Given the description of an element on the screen output the (x, y) to click on. 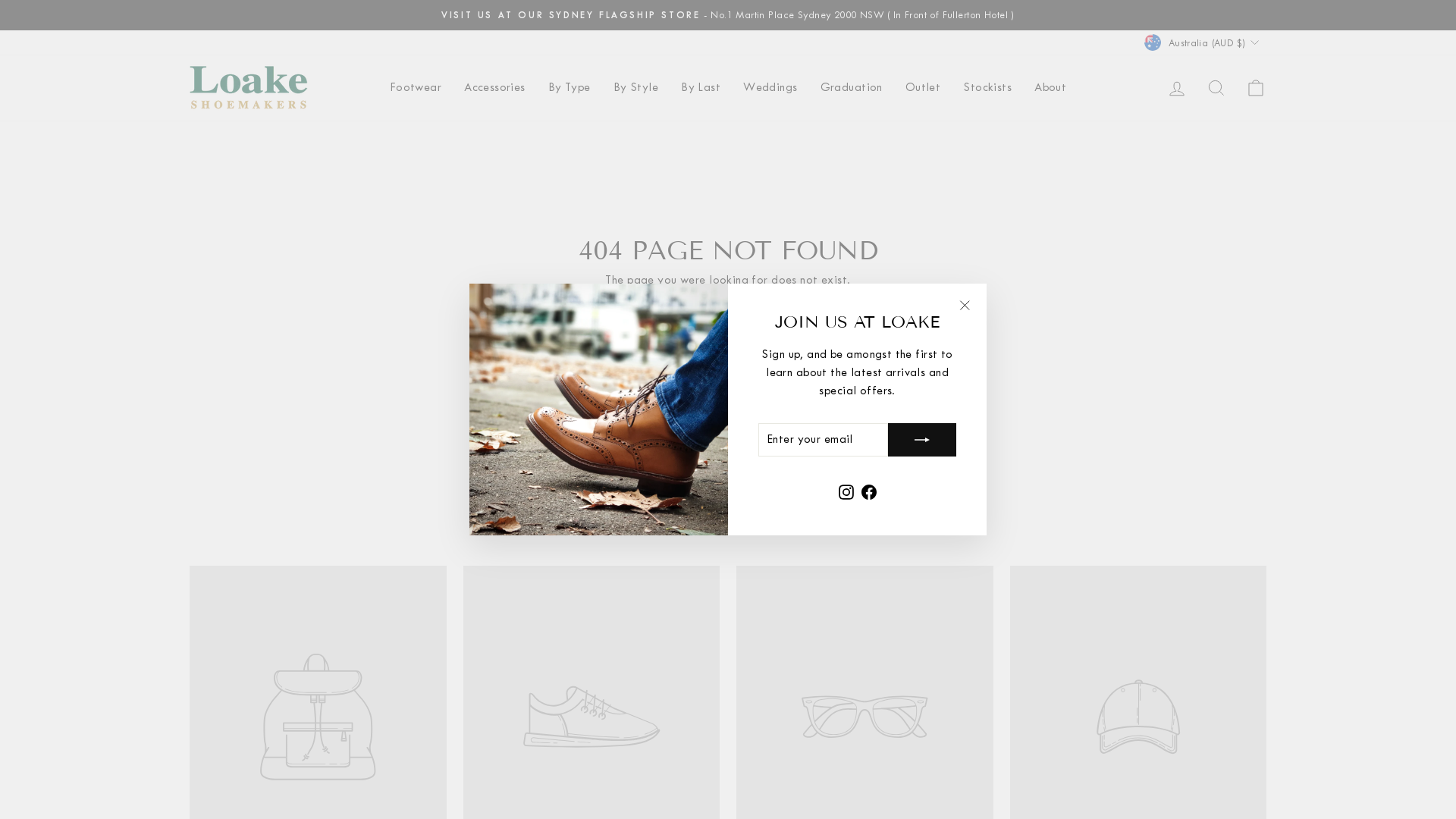
Outlet Element type: text (923, 87)
Accessories Element type: text (494, 87)
Continue shopping Element type: text (727, 306)
VIEW ALL Element type: text (727, 514)
Graduation Element type: text (851, 87)
Footwear Element type: text (415, 87)
Instagram Element type: text (845, 492)
Log in Element type: text (1176, 87)
"Close (esc)" Element type: text (964, 305)
Cart Element type: text (1255, 87)
Search Element type: text (1216, 87)
Weddings Element type: text (769, 87)
Facebook Element type: text (868, 492)
Skip to content Element type: text (0, 0)
By Last Element type: text (700, 87)
Stockists Element type: text (986, 87)
Australia (AUD $) Element type: text (1203, 42)
By Style Element type: text (635, 87)
About Element type: text (1049, 87)
By Type Element type: text (569, 87)
